Given the description of an element on the screen output the (x, y) to click on. 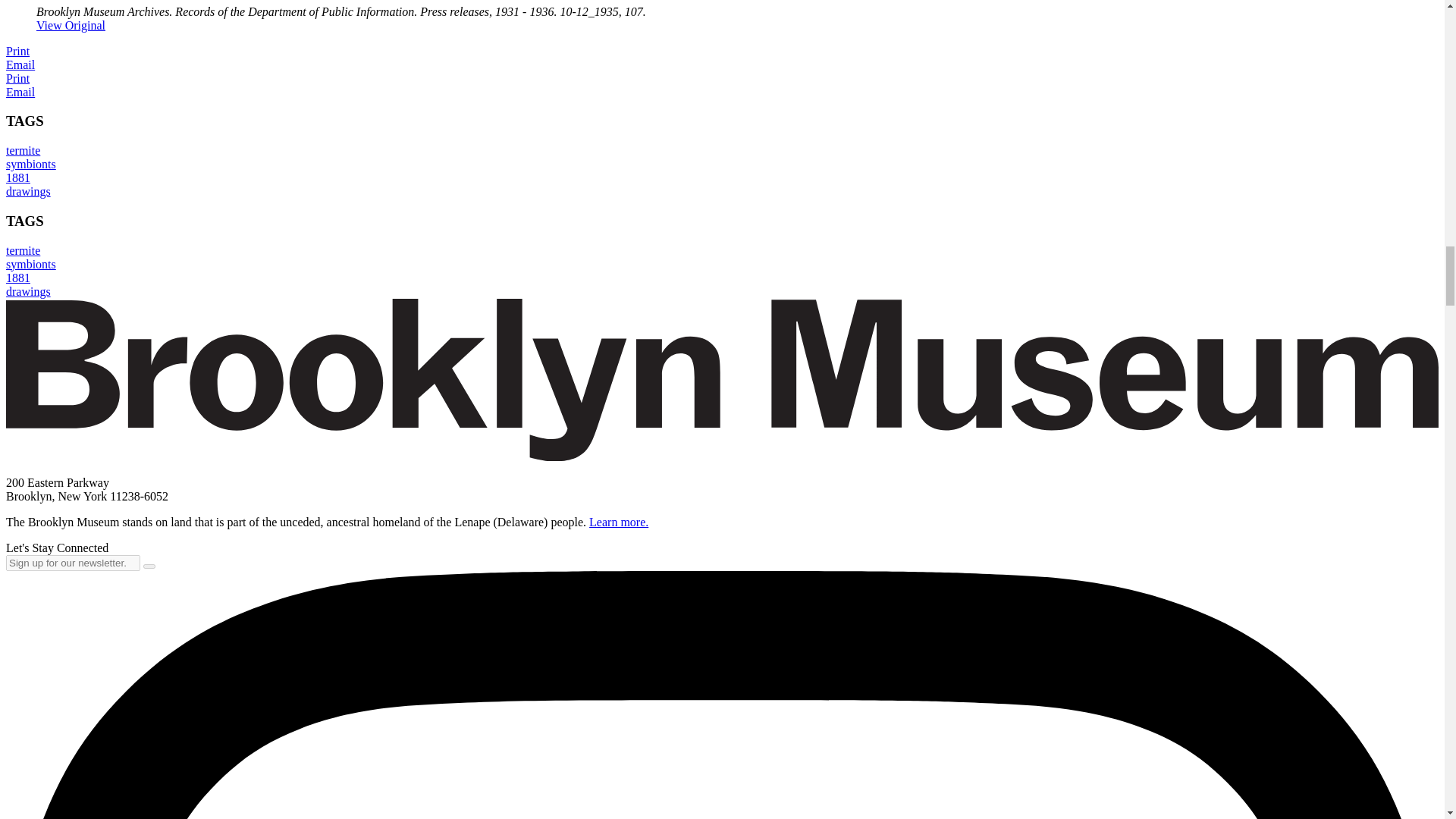
Items tagged symbionts (30, 164)
Items tagged 1881 (17, 177)
Items tagged drawings (27, 191)
Items tagged drawings (27, 291)
Items tagged 1881 (17, 277)
Items tagged symbionts (30, 264)
Items tagged termite (22, 250)
Items tagged termite (22, 150)
